Given the description of an element on the screen output the (x, y) to click on. 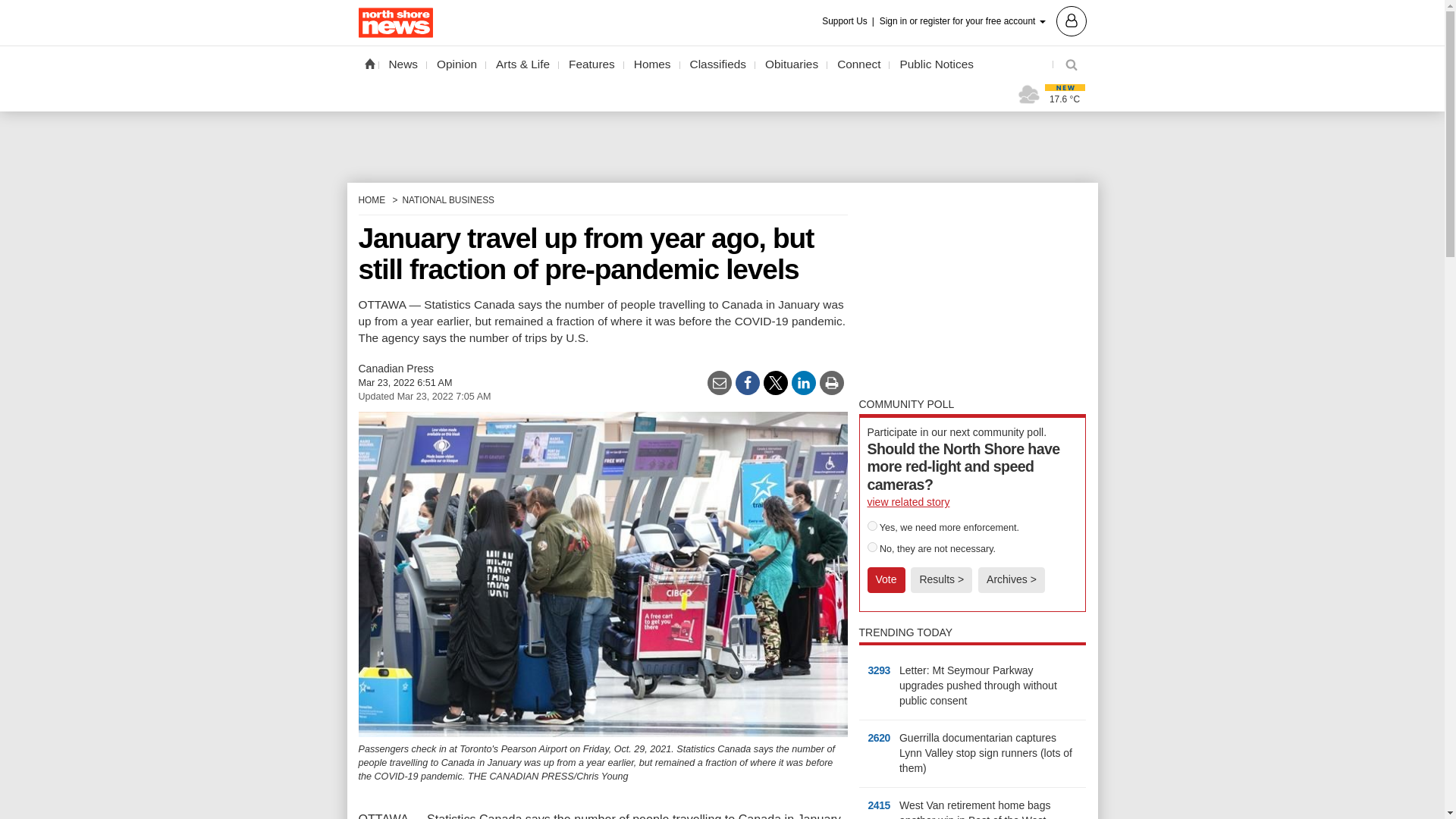
Home (368, 63)
115147 (872, 547)
Opinion (456, 64)
115146 (872, 525)
Sign in or register for your free account (982, 20)
Support Us (849, 21)
News (403, 64)
